Given the description of an element on the screen output the (x, y) to click on. 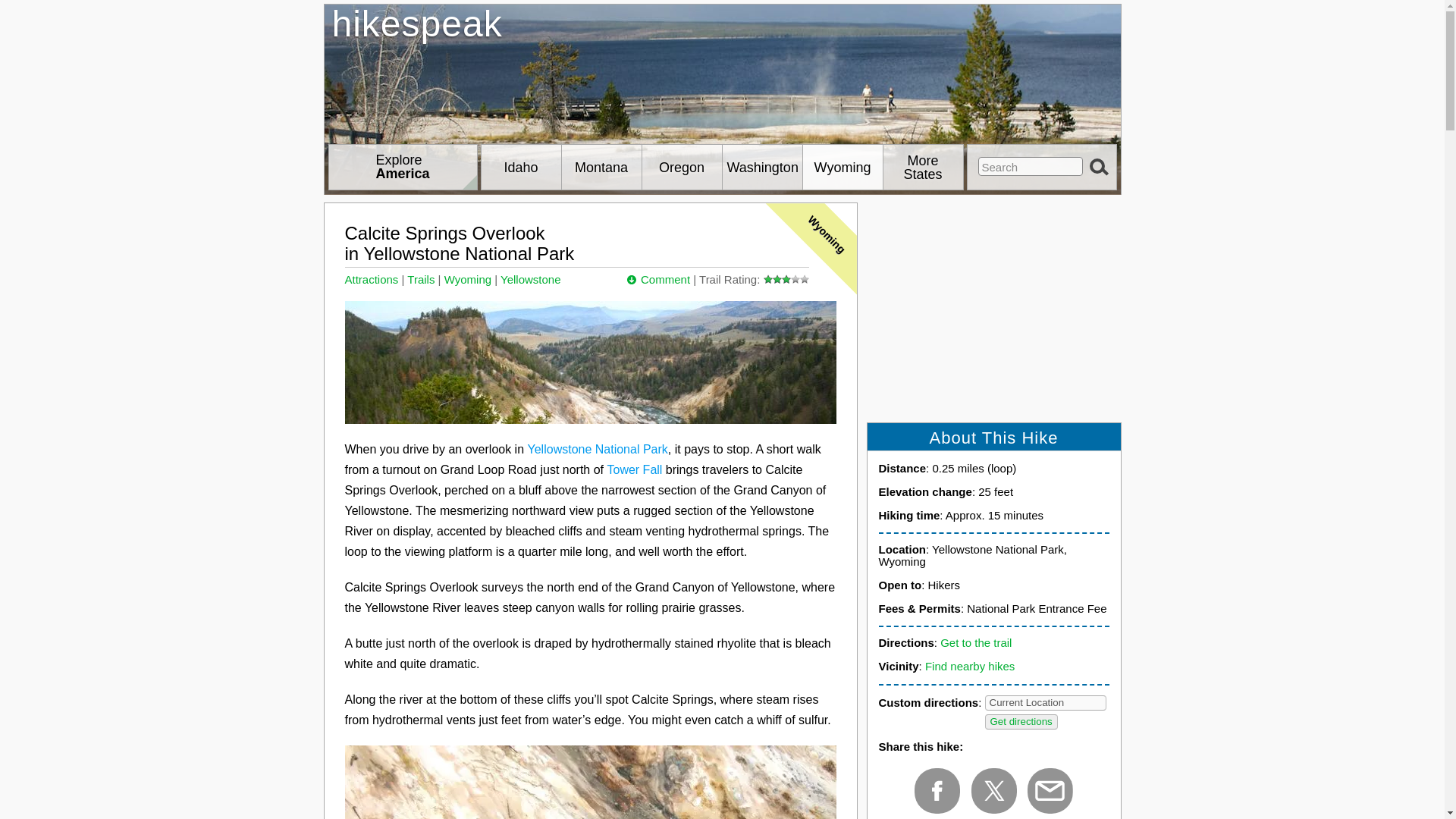
Montana (600, 166)
hikespeak (722, 70)
Idaho (520, 166)
Washington (762, 166)
Wyoming (842, 166)
Hikes in Idaho (520, 166)
More States (922, 166)
Get directions (1020, 721)
Hikes in Oregon (681, 166)
Current Location (1045, 702)
